Given the description of an element on the screen output the (x, y) to click on. 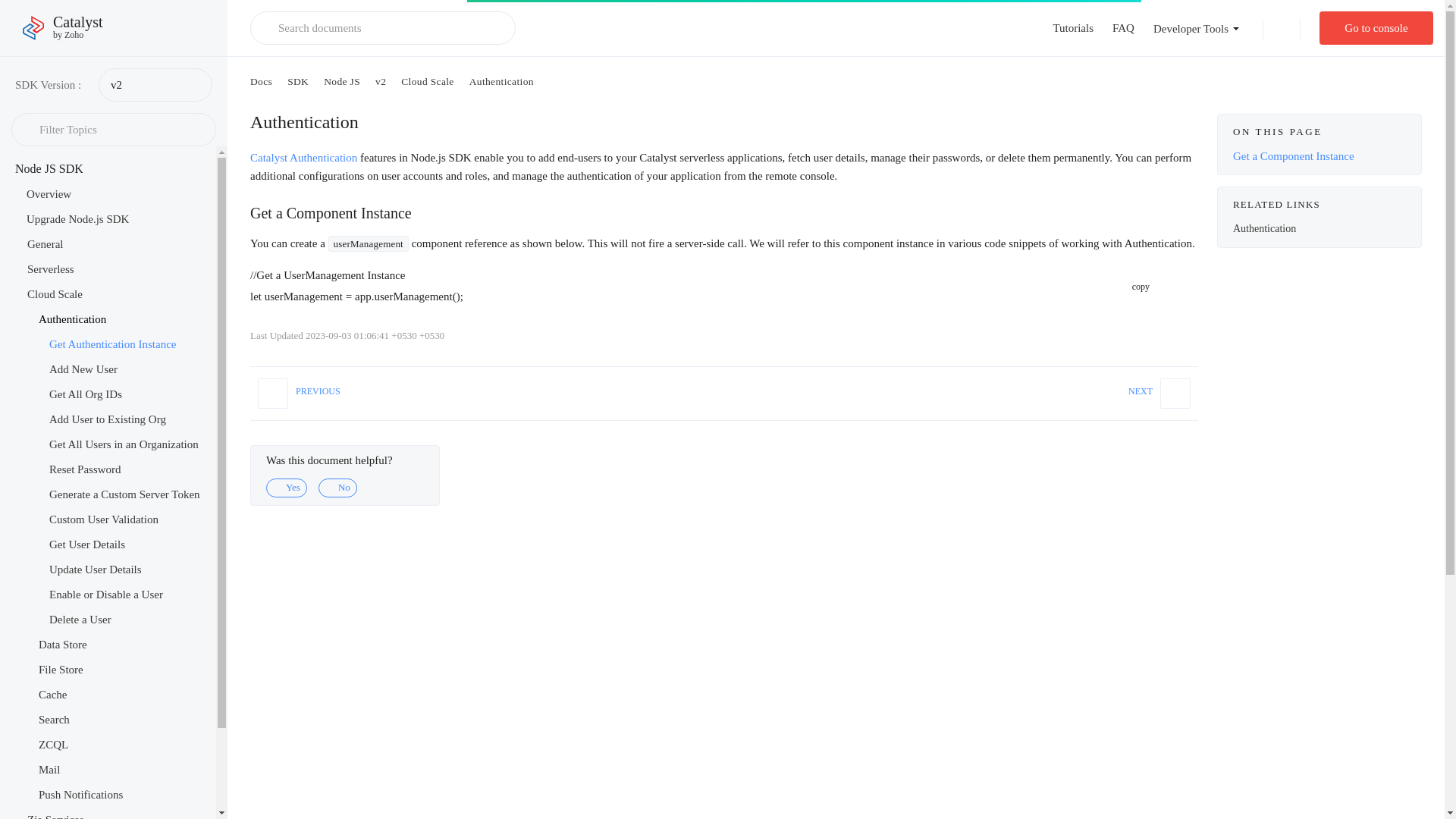
General (63, 27)
Upgrade Node.js SDK (44, 243)
Serverless (77, 218)
Go to console (50, 269)
Search documents (1375, 28)
Search documents (382, 28)
Overview (382, 28)
FAQ (48, 193)
Tutorials (1123, 28)
